Given the description of an element on the screen output the (x, y) to click on. 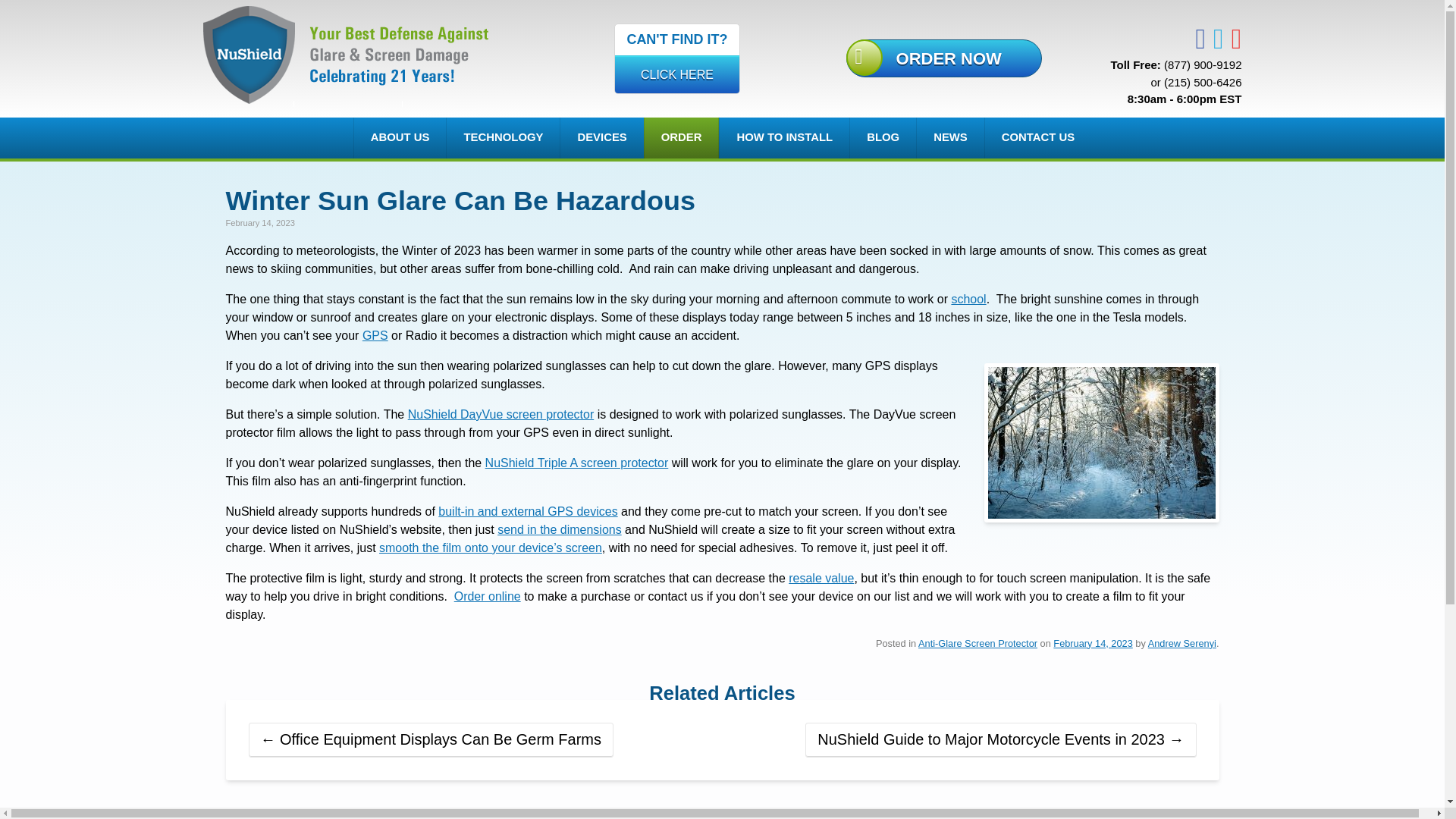
DEVICES (676, 58)
View all posts by Andrew Serenyi (601, 137)
10:07 am (1181, 643)
ABOUT US (1092, 643)
TECHNOLOGY (399, 137)
ORDER NOW (502, 137)
